Given the description of an element on the screen output the (x, y) to click on. 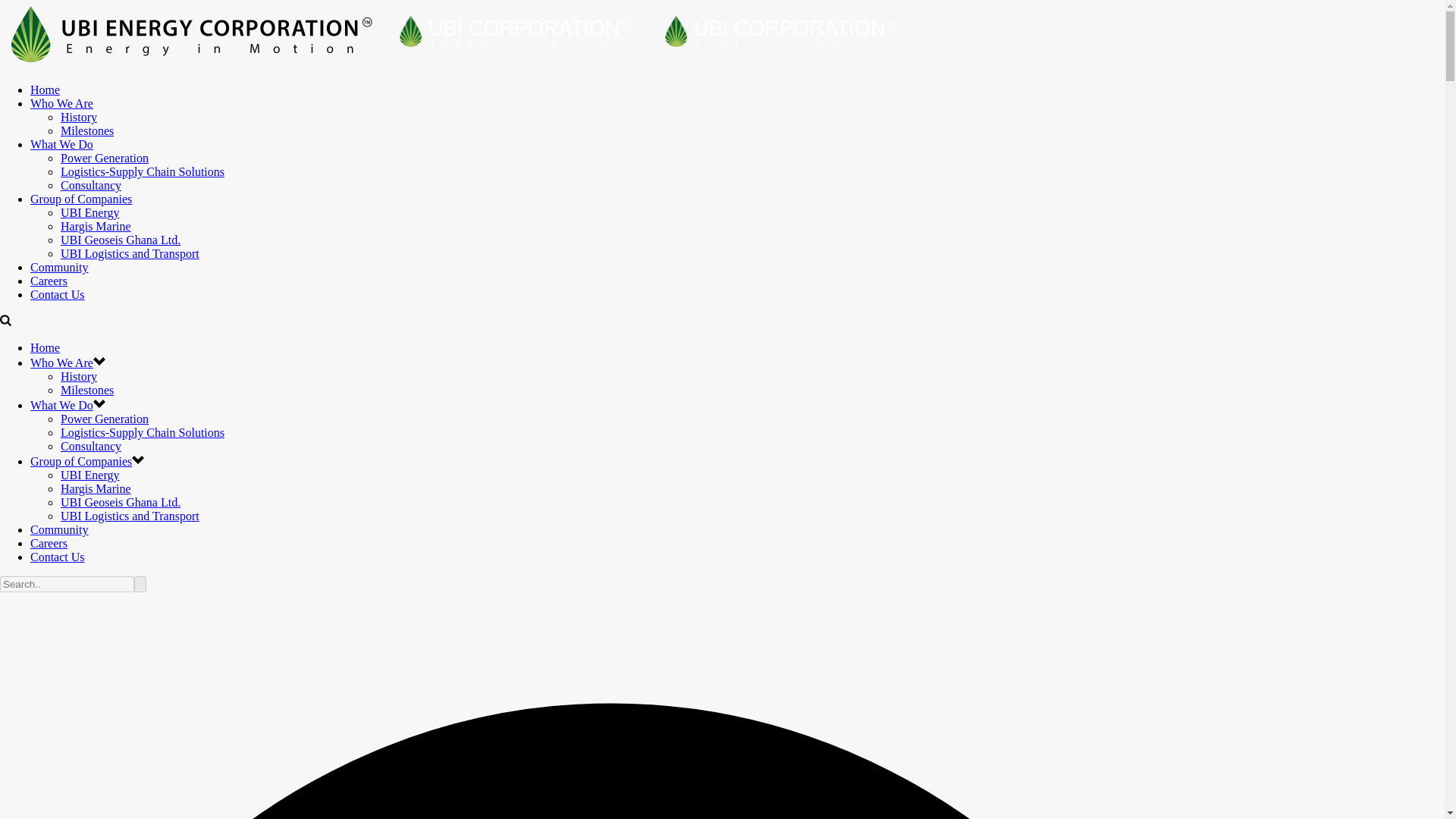
Milestones (87, 130)
UBI Logistics and Transport (130, 253)
Home (44, 89)
What We Do (61, 404)
Hargis Marine (96, 488)
Energy in Motion (511, 38)
Power Generation (104, 418)
Group of Companies (81, 461)
Careers (48, 280)
What We Do (61, 144)
